Given the description of an element on the screen output the (x, y) to click on. 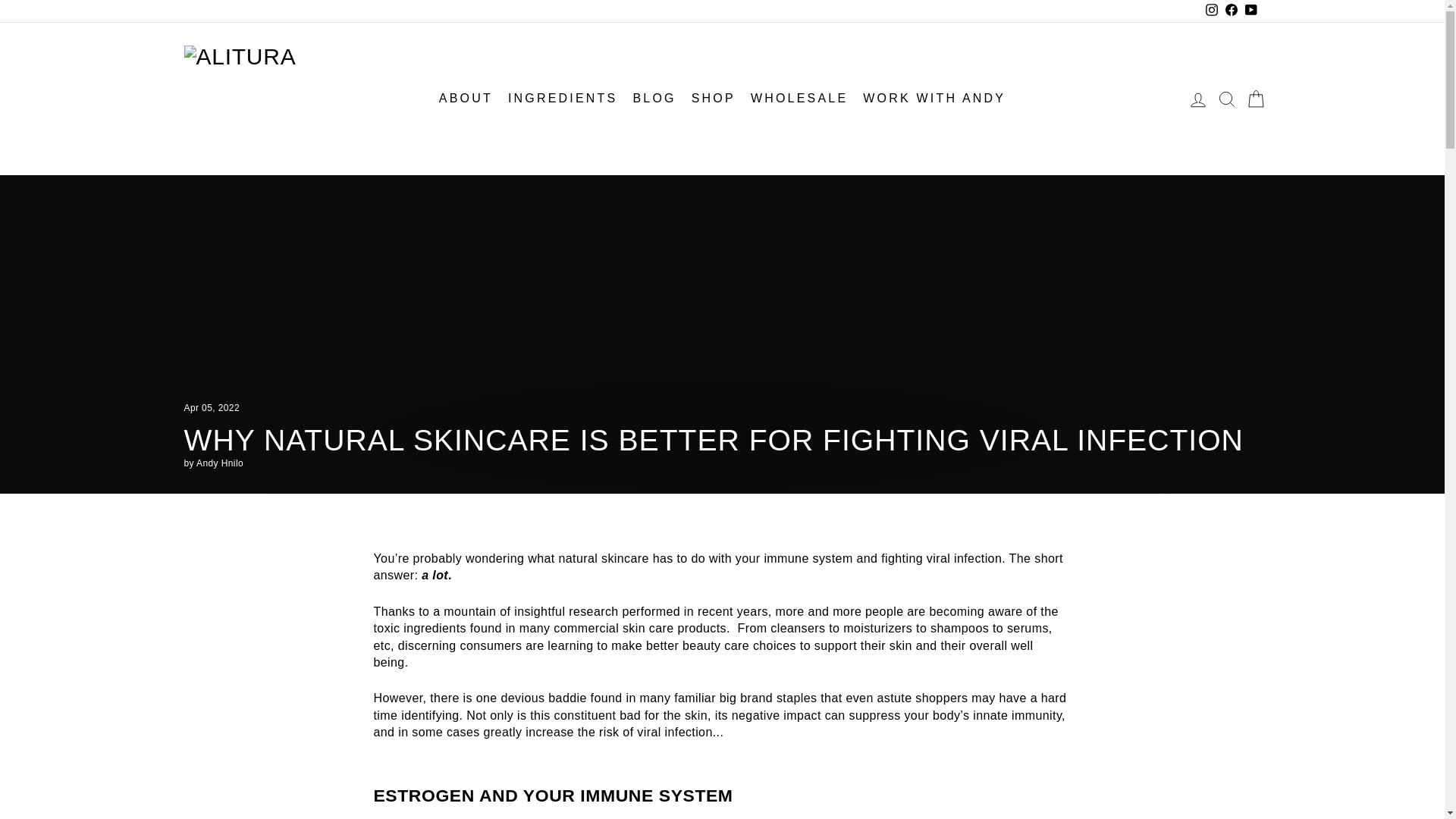
Facebook (1230, 11)
Alitura on YouTube (1250, 11)
WORK WITH ANDY (934, 99)
YouTube (1250, 11)
Instagram (1211, 11)
BLOG (653, 99)
SHOP (713, 99)
WHOLESALE (799, 99)
INGREDIENTS (563, 99)
ABOUT (465, 99)
Alitura on Facebook (1230, 11)
Alitura on Instagram (1211, 11)
